Given the description of an element on the screen output the (x, y) to click on. 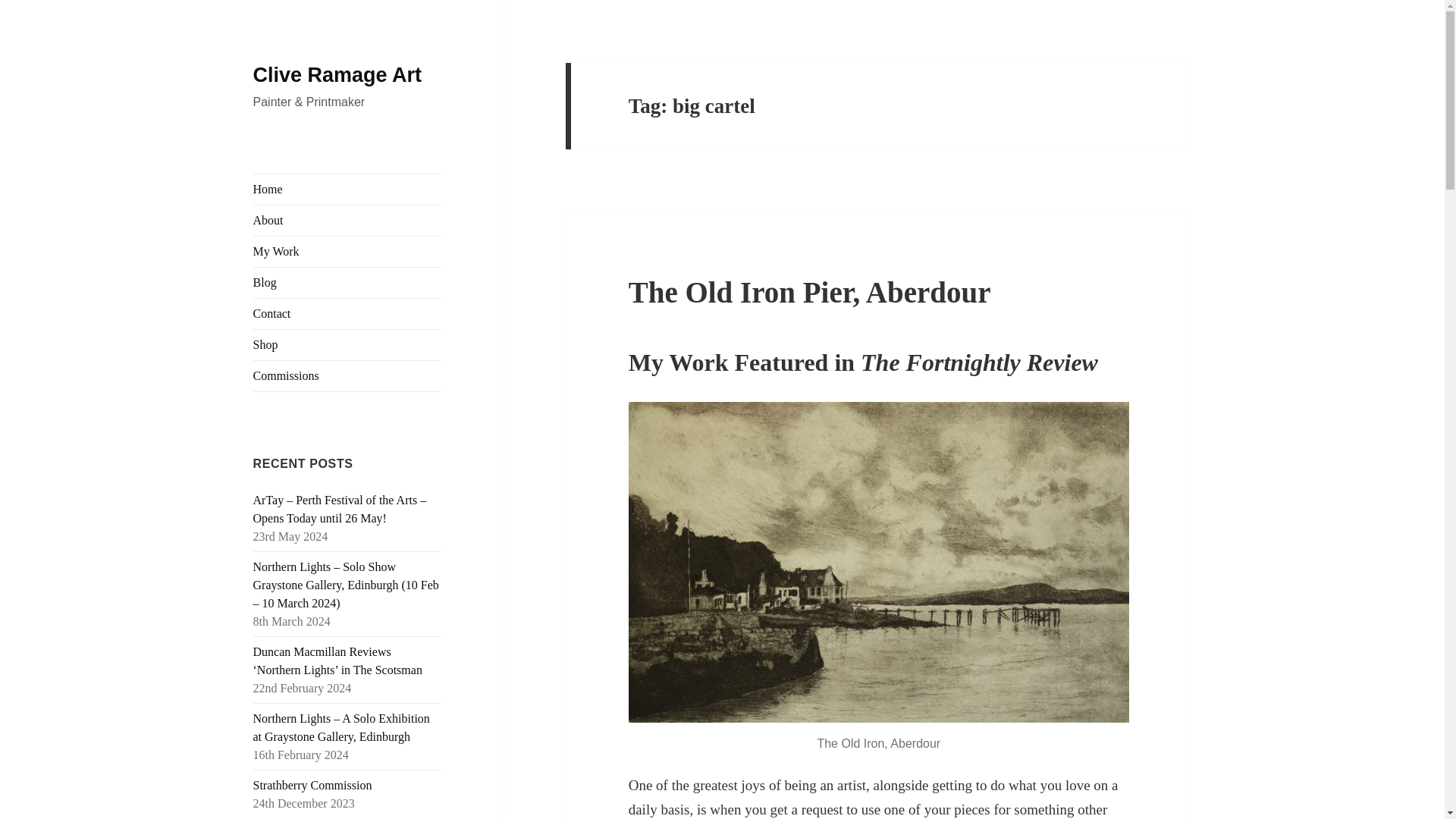
Clive Ramage Art (337, 74)
Blog (347, 282)
About (347, 220)
Commissions (347, 376)
The Old Iron Pier, Aberdour (809, 292)
Home (347, 189)
Strathberry Commission (312, 784)
My Work (347, 251)
Shop (347, 345)
Contact (347, 313)
